Given the description of an element on the screen output the (x, y) to click on. 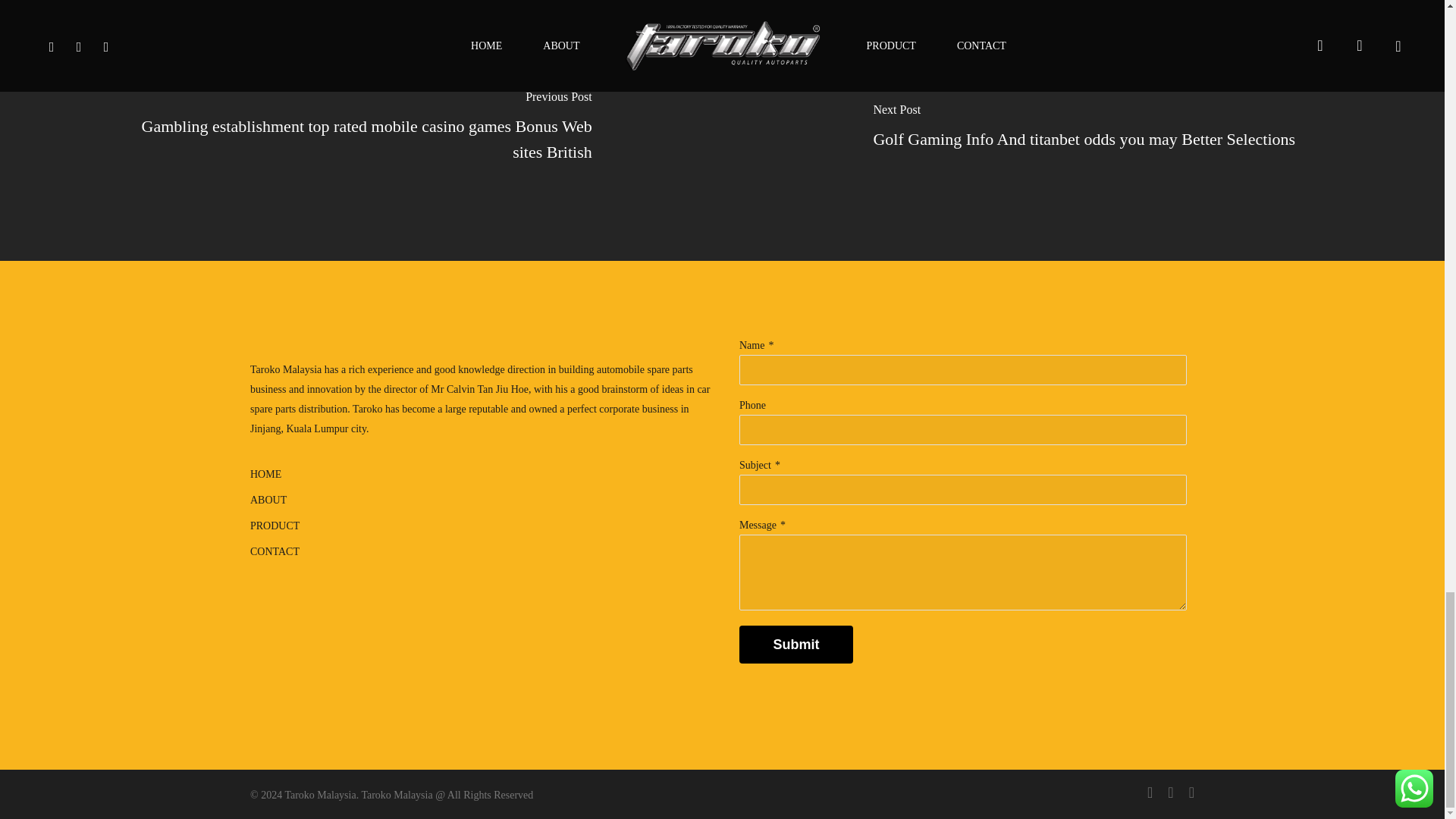
CONTACT (481, 551)
HOME (481, 474)
PRODUCT (481, 526)
ABOUT (481, 500)
